Given the description of an element on the screen output the (x, y) to click on. 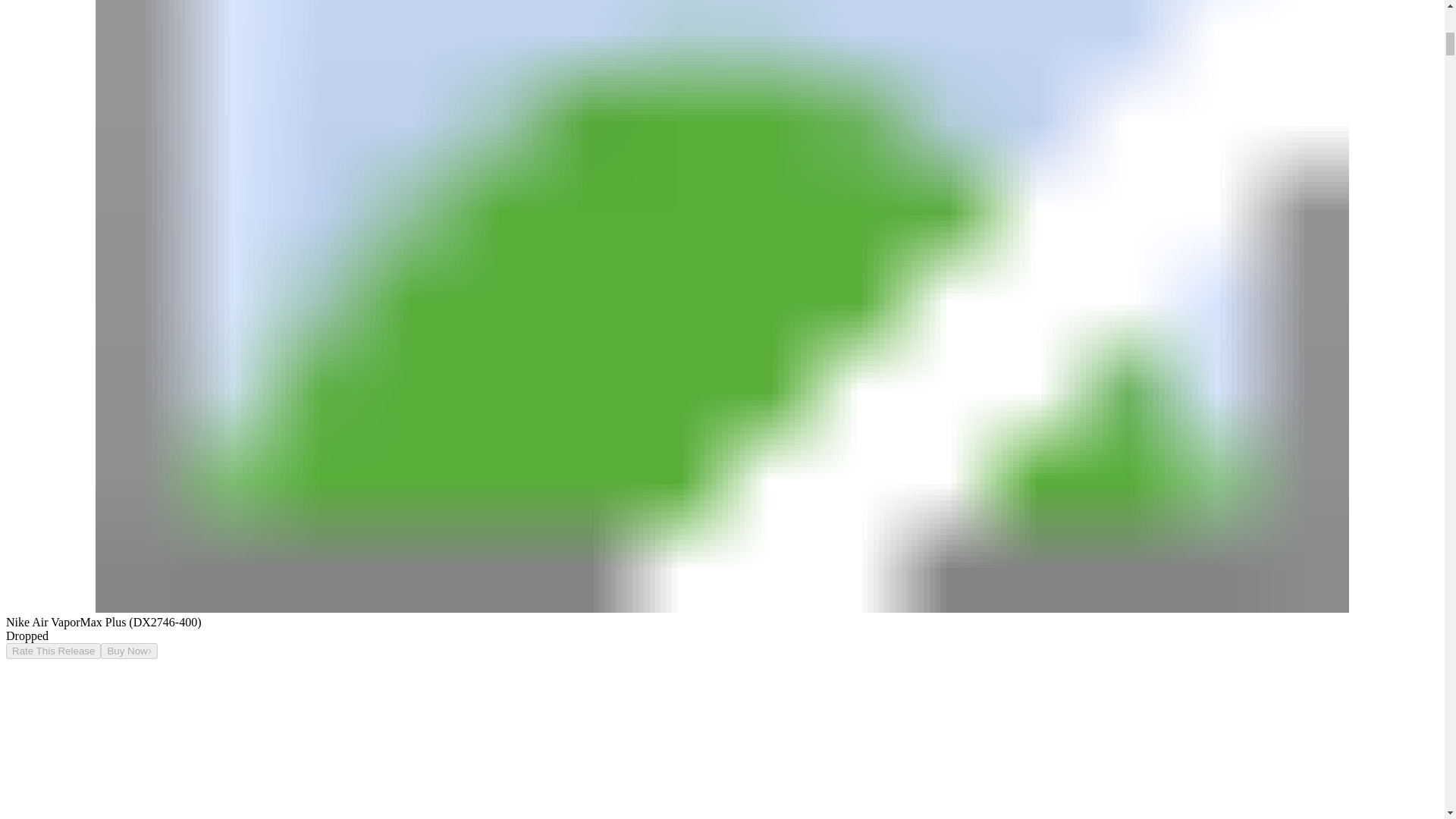
Buy Now (128, 650)
Rate This Release (52, 650)
